Given the description of an element on the screen output the (x, y) to click on. 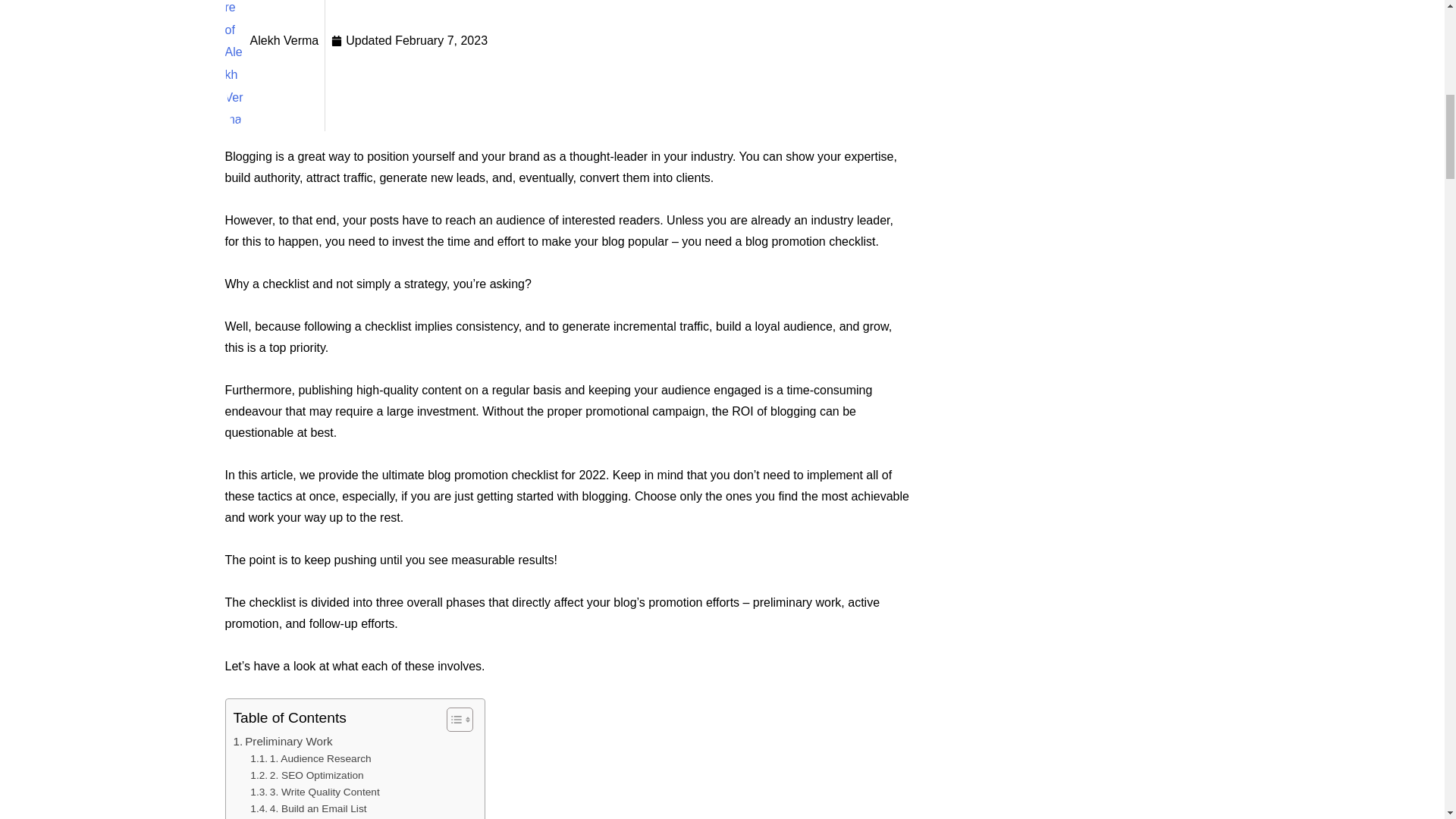
4. Build an Email List (308, 808)
Preliminary Work (282, 741)
3. Write Quality Content (314, 791)
1. Audience Research (310, 759)
2. SEO Optimization (306, 775)
